Given the description of an element on the screen output the (x, y) to click on. 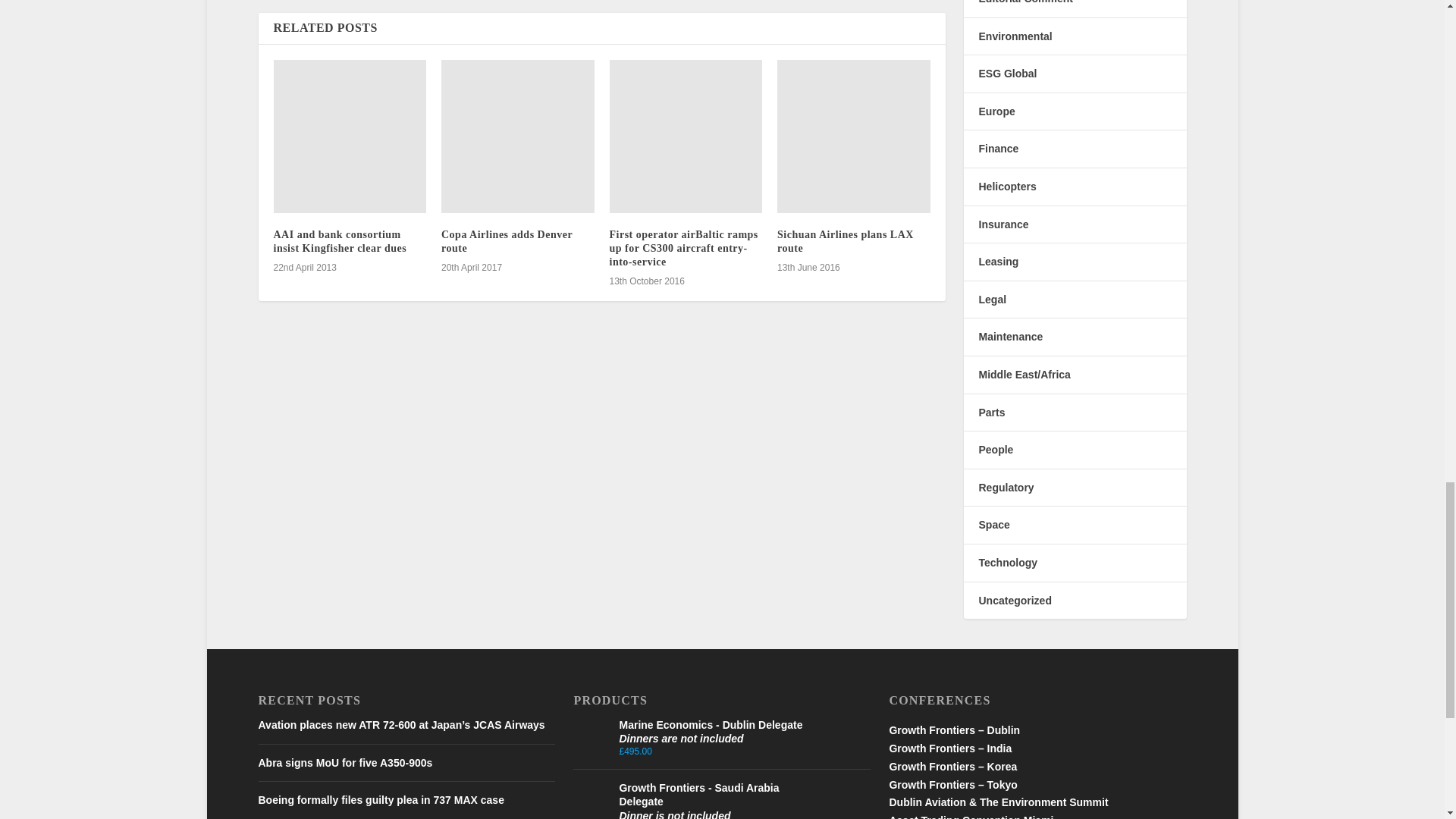
AAI and bank consortium insist Kingfisher clear dues (349, 135)
